Given the description of an element on the screen output the (x, y) to click on. 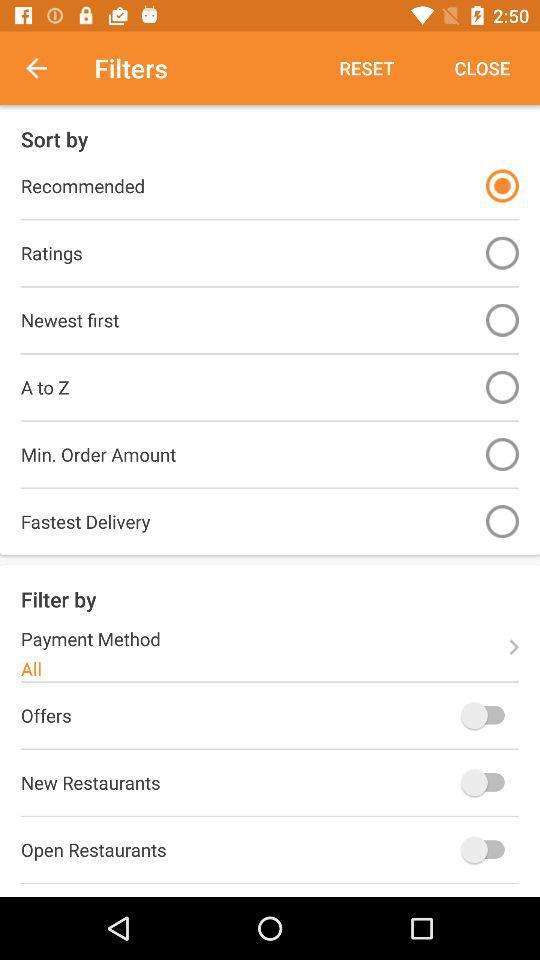
turn off item to the right of the recommended item (502, 185)
